Given the description of an element on the screen output the (x, y) to click on. 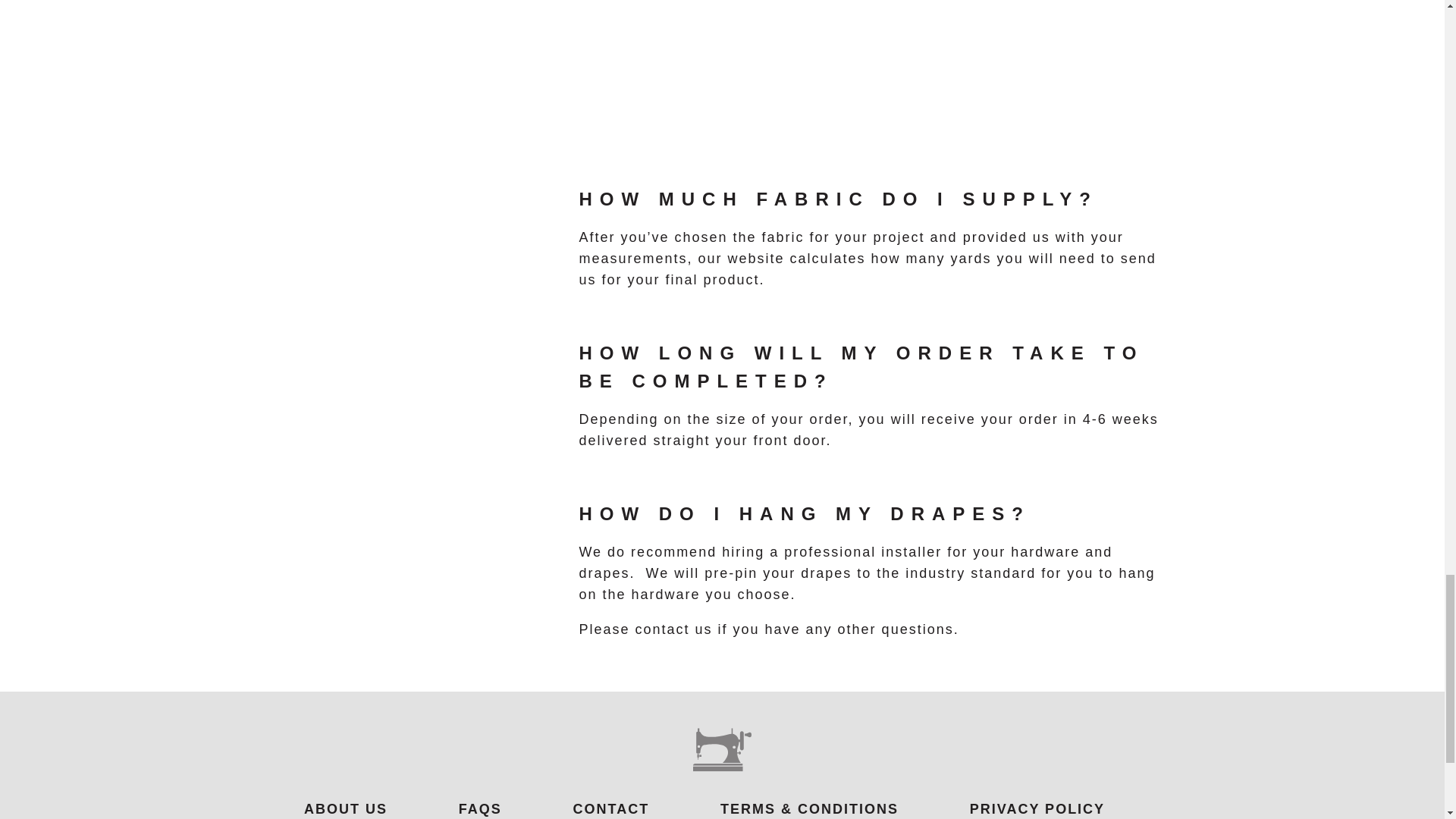
PRIVACY POLICY (1037, 808)
CONTACT (611, 808)
FAQS (480, 808)
ABOUT US (345, 808)
